Given the description of an element on the screen output the (x, y) to click on. 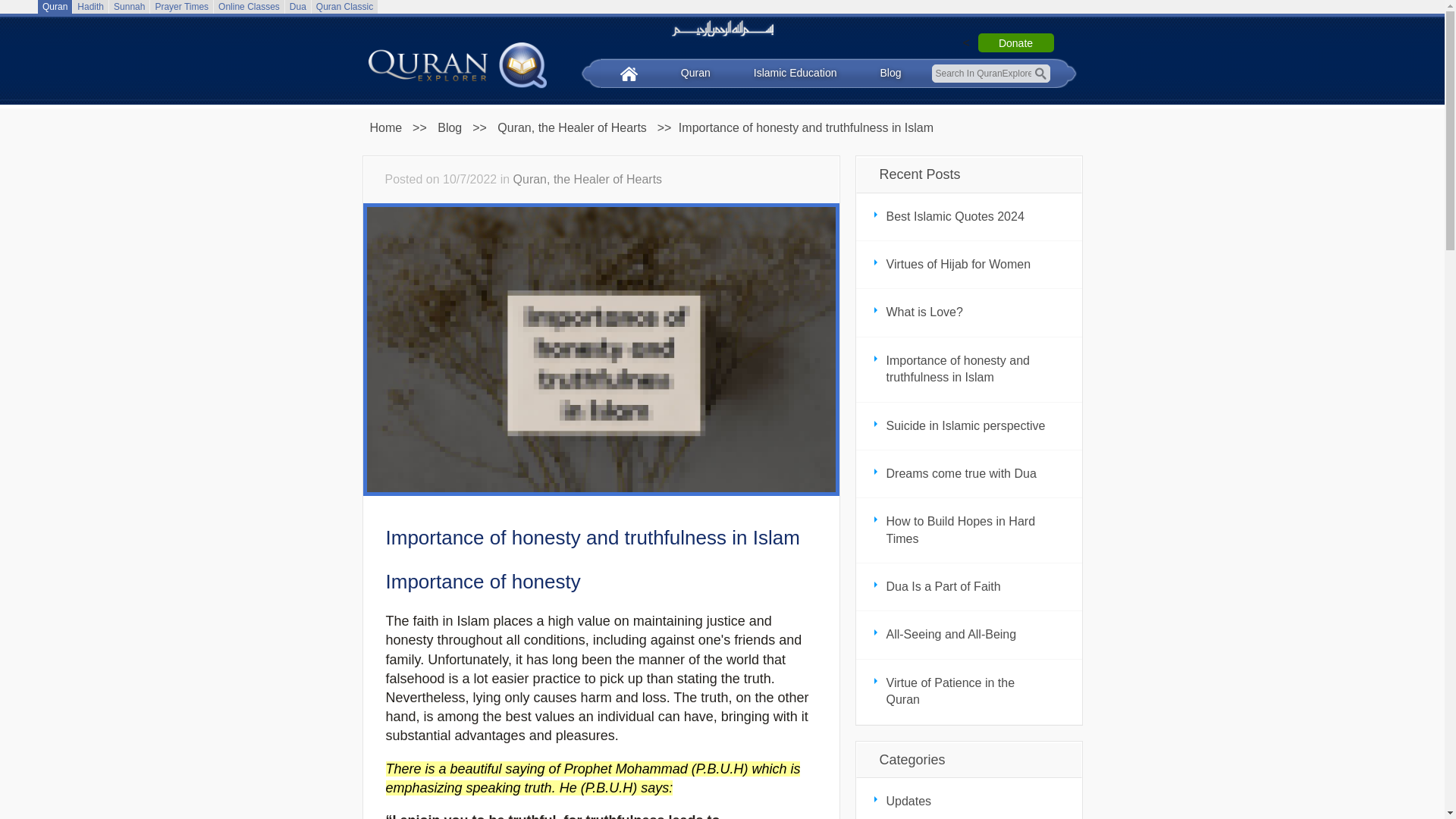
Home (385, 127)
Blog (891, 72)
Home (385, 127)
Prayer Times (180, 6)
Quran, the Healer of Hearts (571, 127)
Quran Classic (344, 6)
Blog (571, 127)
Quran (54, 6)
Quran, the Healer of Hearts (587, 178)
Blog (449, 127)
